Given the description of an element on the screen output the (x, y) to click on. 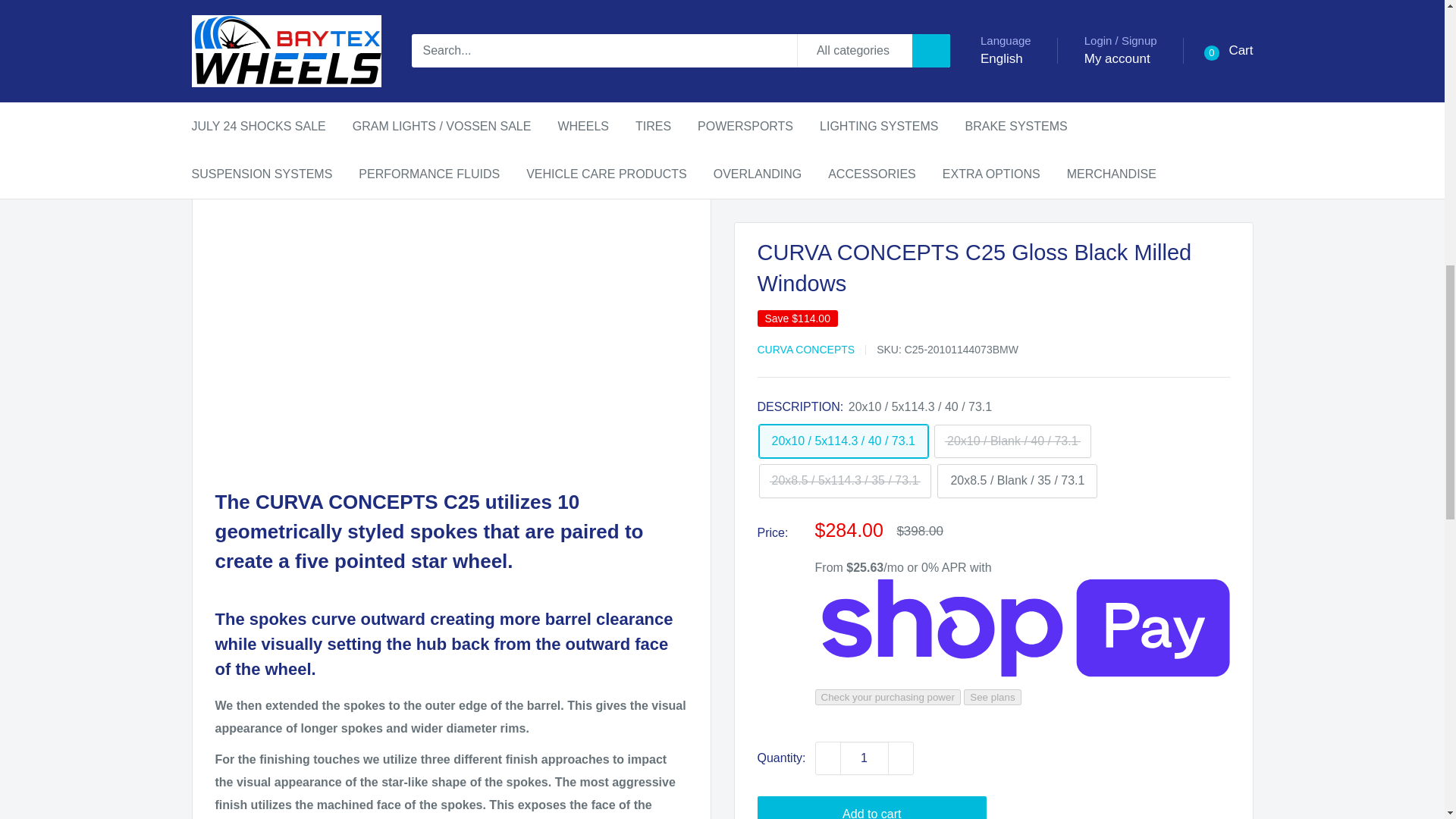
1 (864, 10)
Increase quantity by 1 (900, 10)
Decrease quantity by 1 (827, 10)
